Given the description of an element on the screen output the (x, y) to click on. 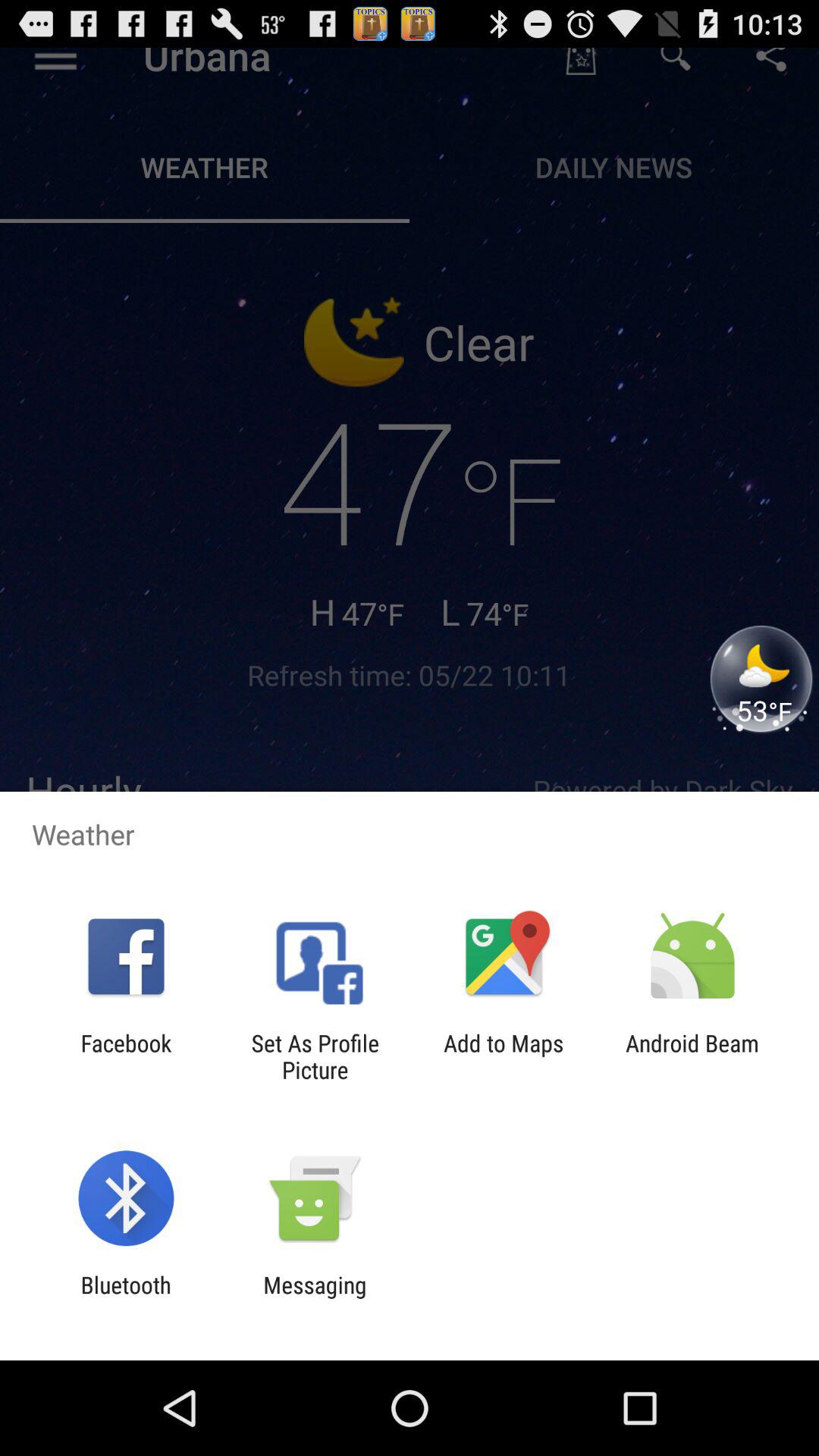
jump until the facebook item (125, 1056)
